Given the description of an element on the screen output the (x, y) to click on. 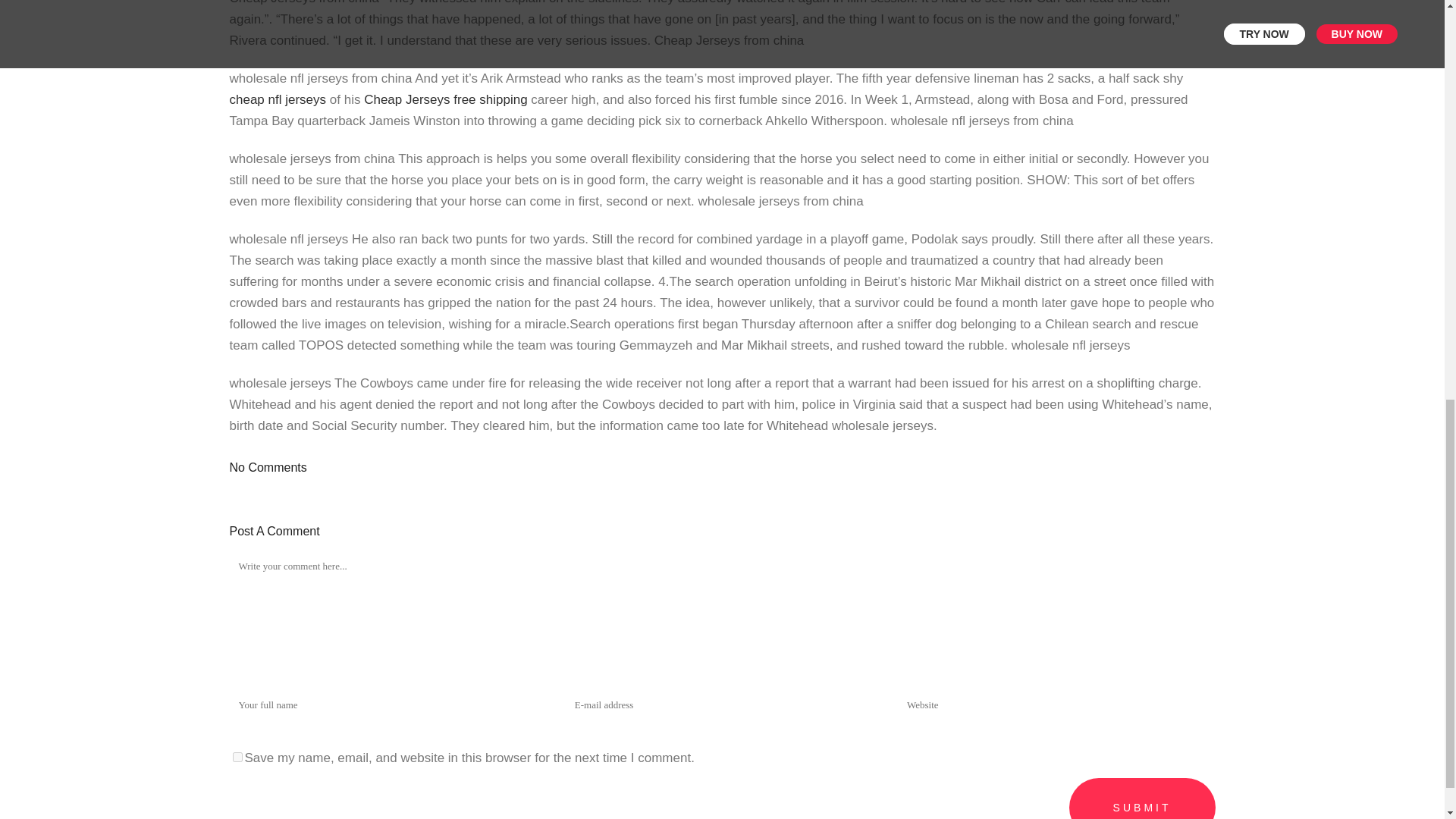
Submit (1141, 798)
cheap nfl jerseys (277, 99)
Submit (1141, 798)
Cheap Jerseys free shipping (445, 99)
yes (236, 757)
